Given the description of an element on the screen output the (x, y) to click on. 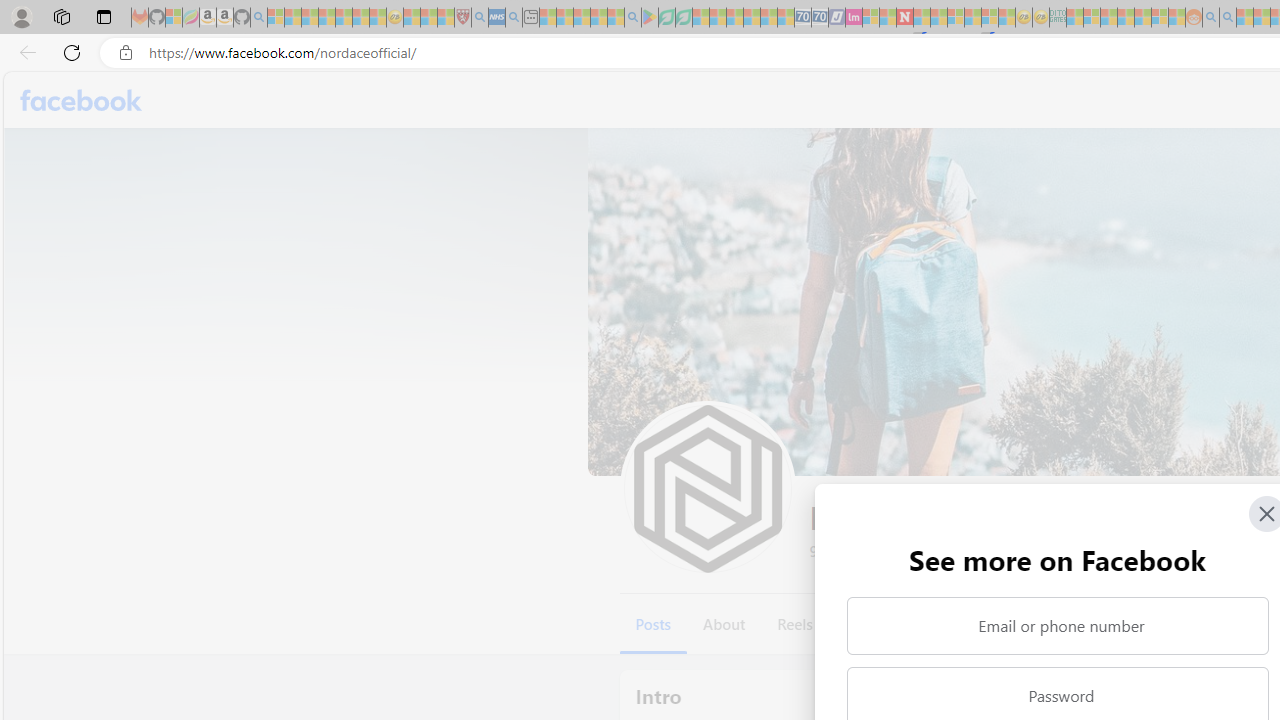
Facebook (81, 99)
Email or phone number (1057, 625)
